Given the description of an element on the screen output the (x, y) to click on. 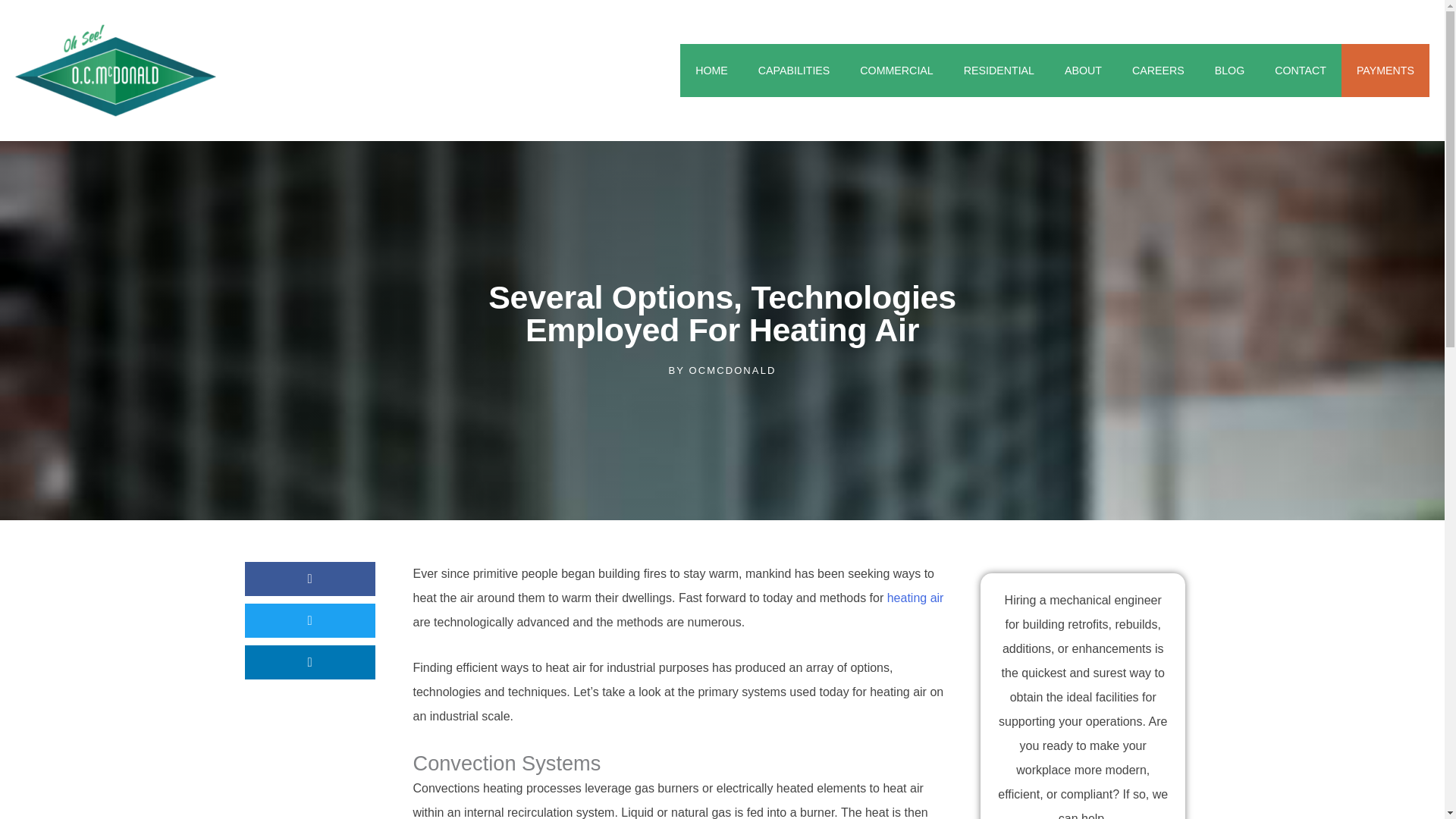
CAREERS (1157, 70)
ABOUT (1082, 70)
RESIDENTIAL (999, 70)
CONTACT (1299, 70)
COMMERCIAL (895, 70)
CAPABILITIES (793, 70)
heating air (914, 597)
PAYMENTS (1384, 70)
HOME (710, 70)
BY OCMCDONALD (722, 370)
BLOG (1229, 70)
